Given the description of an element on the screen output the (x, y) to click on. 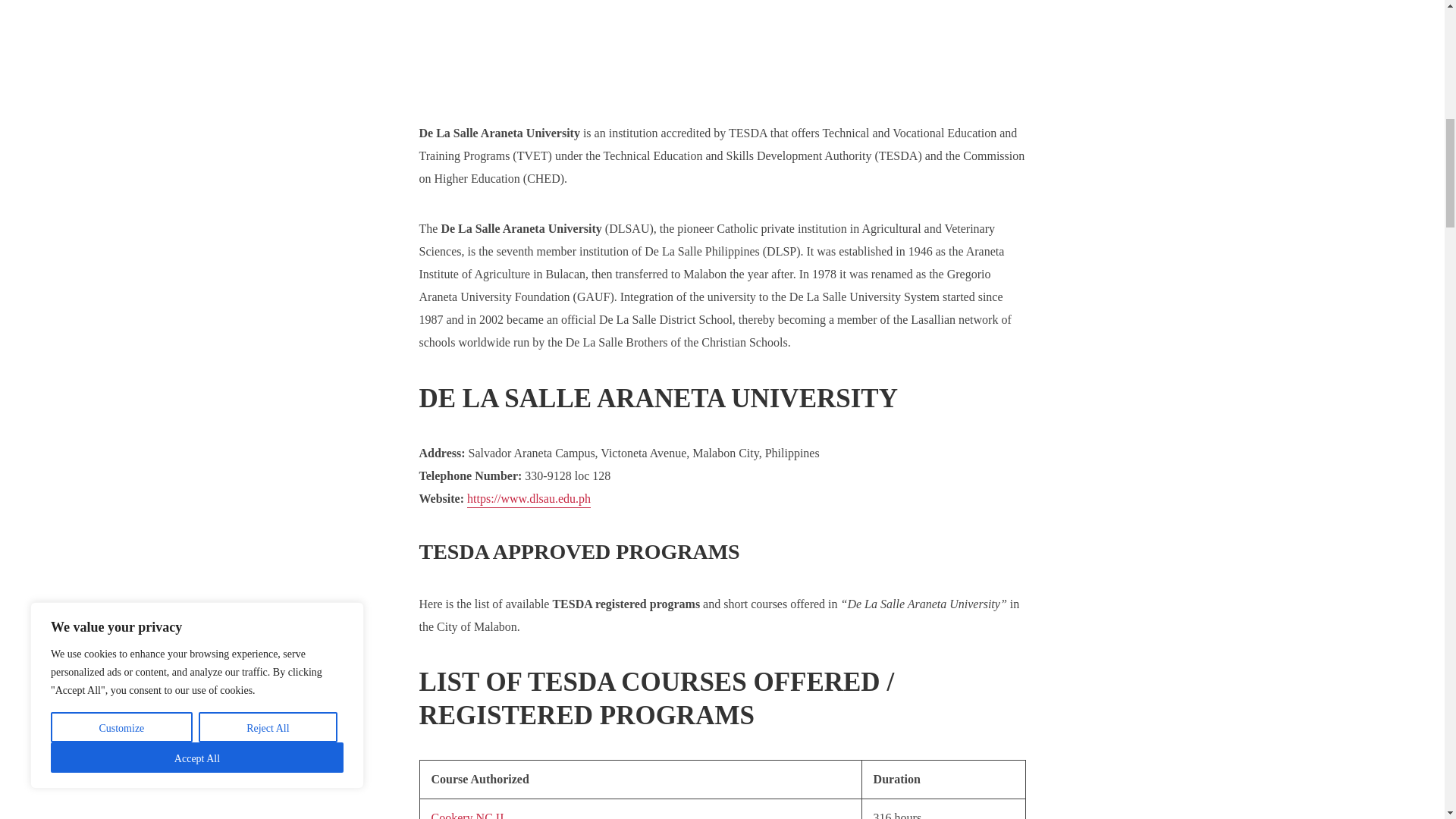
Advertisement (722, 61)
Cookery NC II (466, 815)
Cookery NC II (466, 815)
